Given the description of an element on the screen output the (x, y) to click on. 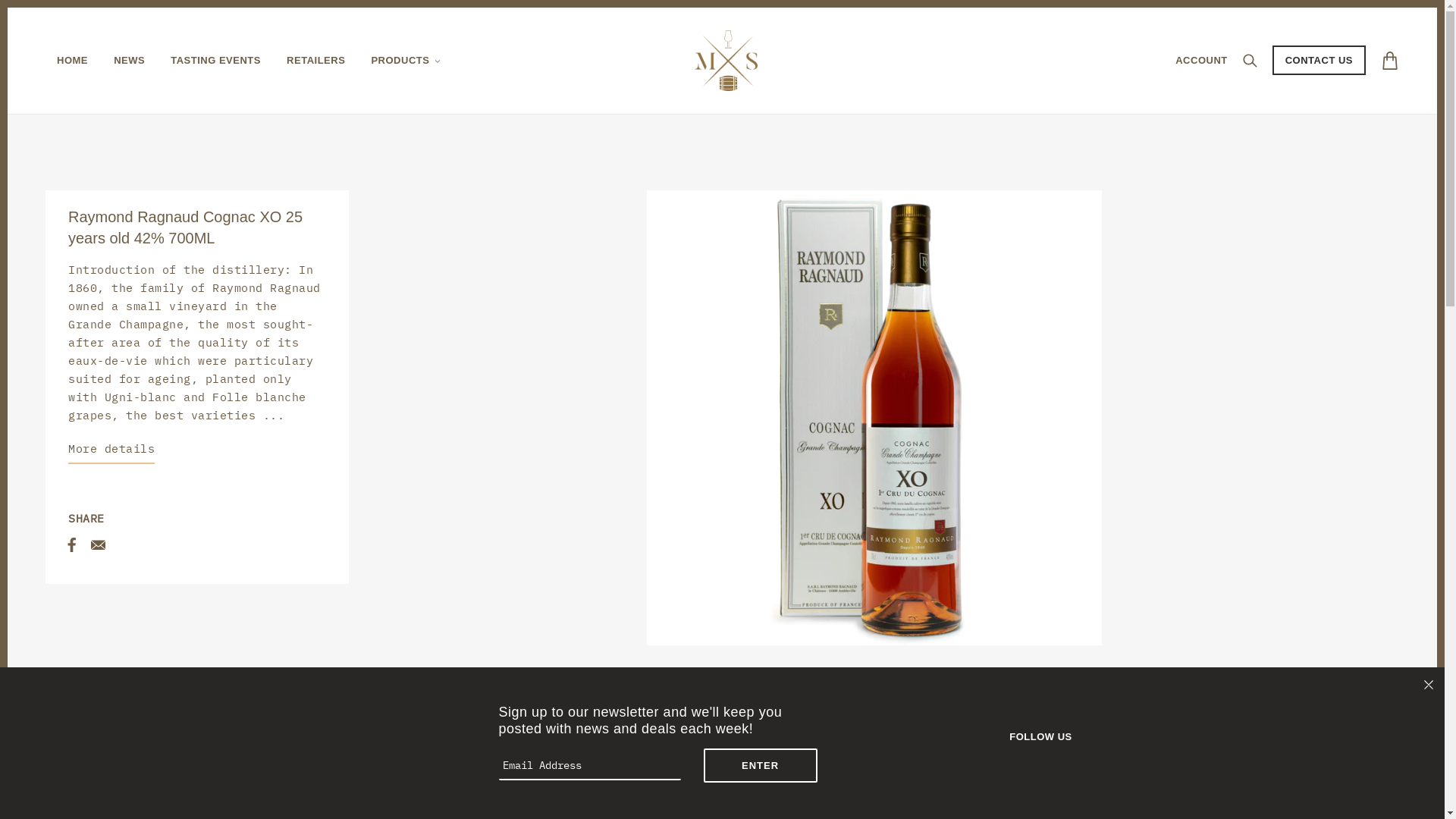
Enter Element type: text (760, 765)
Cognac Grande Champagne Raymond Ragnaud Element type: text (476, 769)
Mind Spirits & Co. Element type: hover (725, 59)
RETAILERS Element type: text (315, 59)
HOME Element type: text (72, 59)
NEWS Element type: text (129, 59)
ACCOUNT Element type: text (1201, 59)
TASTING EVENTS Element type: text (215, 59)
CONTACT US Element type: text (1318, 60)
PRODUCTS Element type: text (405, 60)
